Given the description of an element on the screen output the (x, y) to click on. 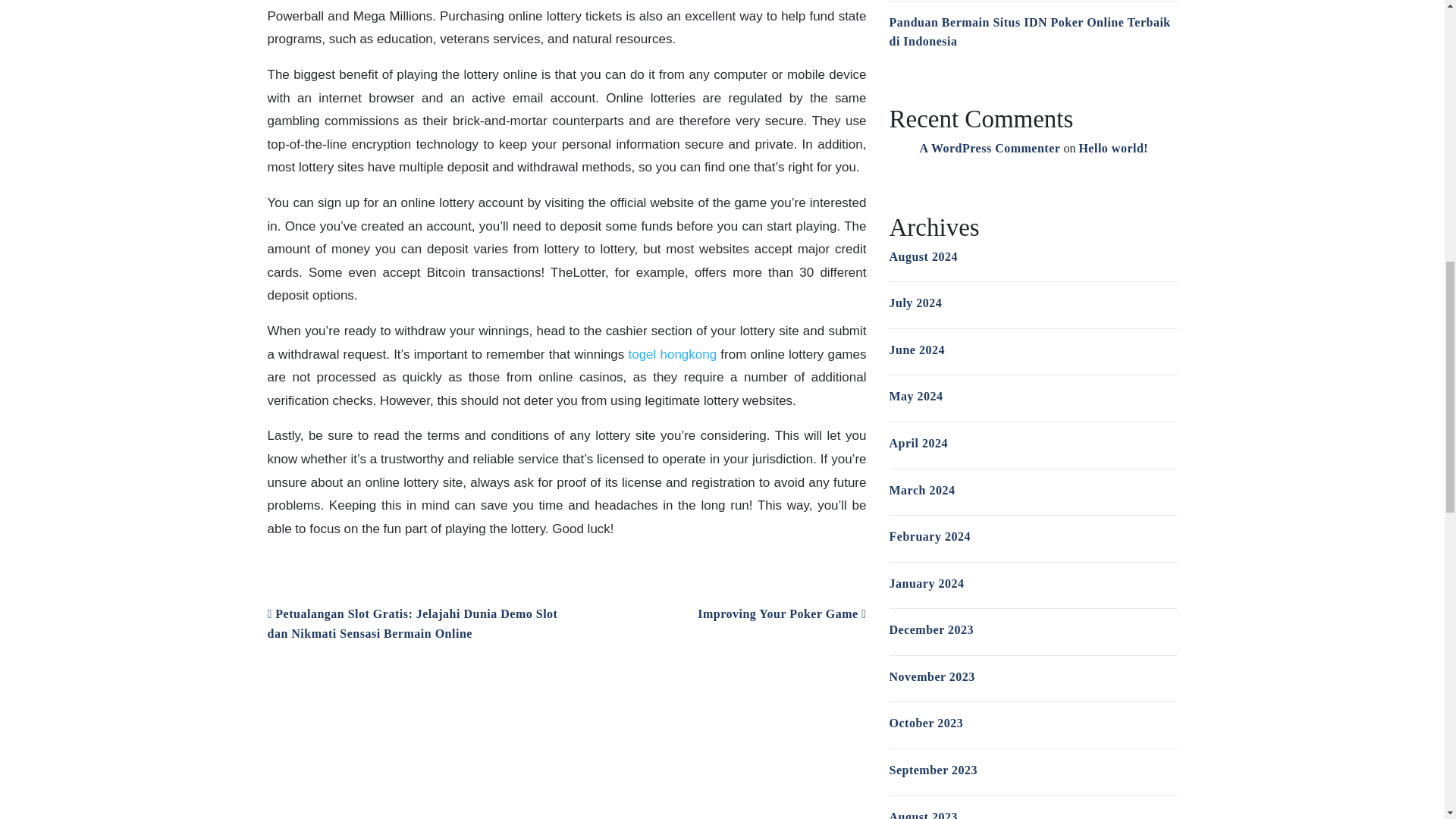
A WordPress Commenter (988, 147)
Improving Your Poker Game (781, 613)
October 2023 (925, 722)
August 2023 (922, 814)
August 2024 (922, 256)
Panduan Bermain Situs IDN Poker Online Terbaik di Indonesia (1029, 31)
February 2024 (928, 535)
Hello world! (1113, 147)
May 2024 (915, 395)
January 2024 (925, 583)
